Given the description of an element on the screen output the (x, y) to click on. 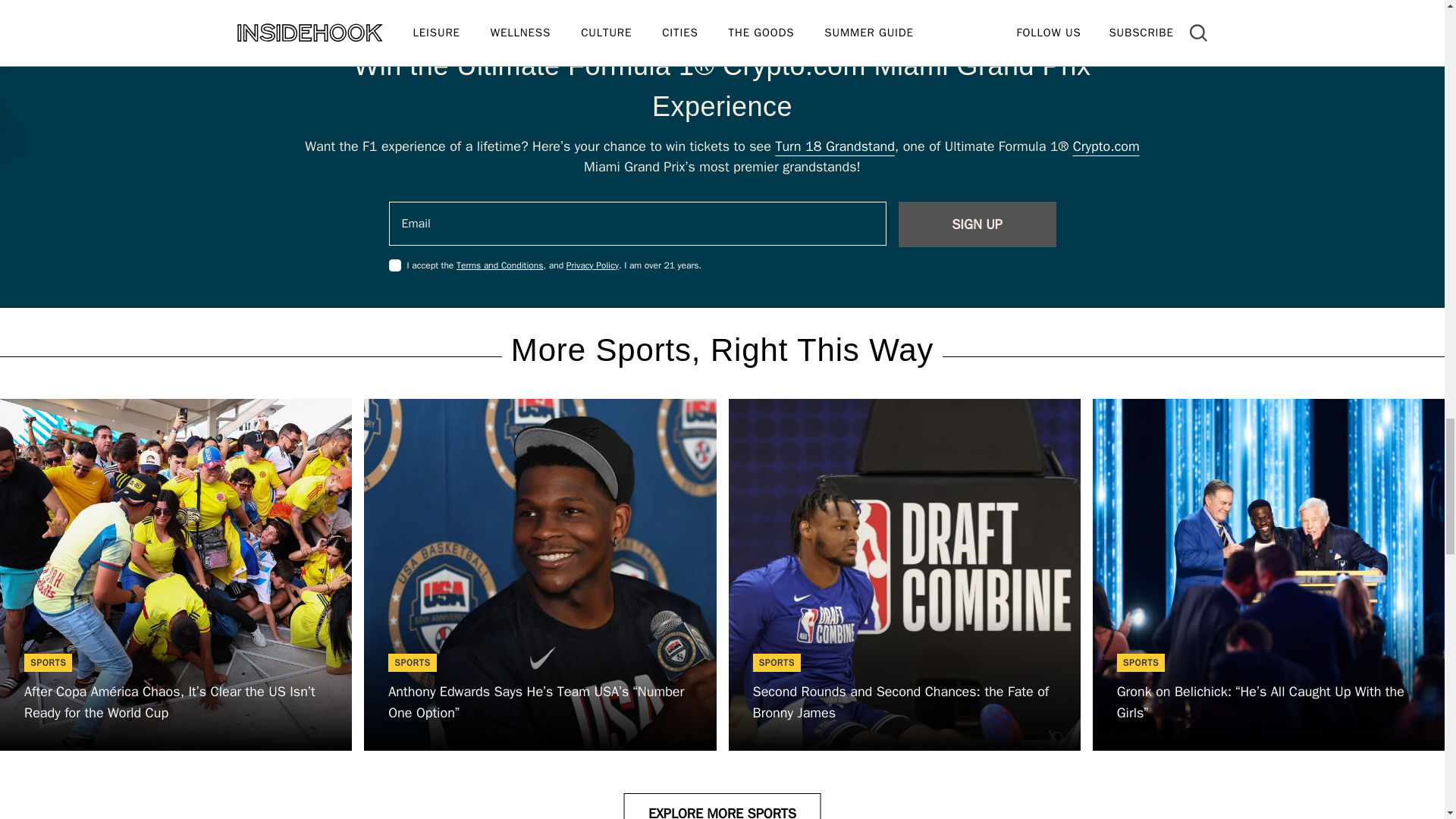
on (394, 265)
